Given the description of an element on the screen output the (x, y) to click on. 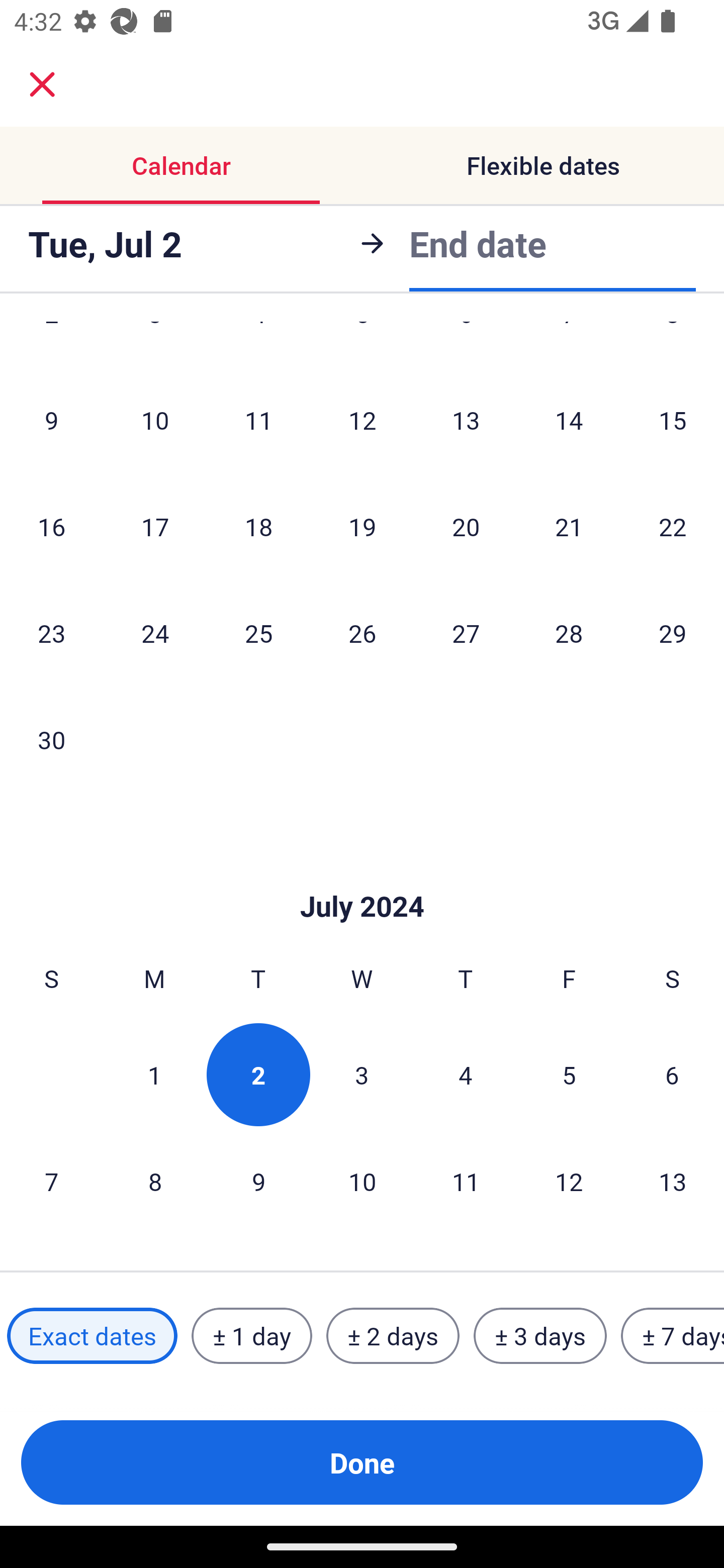
close. (42, 84)
Flexible dates (542, 164)
End date (477, 240)
9 Sunday, June 9, 2024 (51, 419)
10 Monday, June 10, 2024 (155, 419)
11 Tuesday, June 11, 2024 (258, 419)
12 Wednesday, June 12, 2024 (362, 419)
13 Thursday, June 13, 2024 (465, 419)
14 Friday, June 14, 2024 (569, 419)
15 Saturday, June 15, 2024 (672, 419)
16 Sunday, June 16, 2024 (51, 526)
17 Monday, June 17, 2024 (155, 526)
18 Tuesday, June 18, 2024 (258, 526)
19 Wednesday, June 19, 2024 (362, 526)
20 Thursday, June 20, 2024 (465, 526)
21 Friday, June 21, 2024 (569, 526)
22 Saturday, June 22, 2024 (672, 526)
23 Sunday, June 23, 2024 (51, 633)
24 Monday, June 24, 2024 (155, 633)
25 Tuesday, June 25, 2024 (258, 633)
26 Wednesday, June 26, 2024 (362, 633)
27 Thursday, June 27, 2024 (465, 633)
28 Friday, June 28, 2024 (569, 633)
29 Saturday, June 29, 2024 (672, 633)
30 Sunday, June 30, 2024 (51, 739)
Skip to Done (362, 876)
1 Monday, July 1, 2024 (154, 1074)
3 Wednesday, July 3, 2024 (361, 1074)
4 Thursday, July 4, 2024 (465, 1074)
5 Friday, July 5, 2024 (568, 1074)
6 Saturday, July 6, 2024 (672, 1074)
7 Sunday, July 7, 2024 (51, 1181)
8 Monday, July 8, 2024 (155, 1181)
9 Tuesday, July 9, 2024 (258, 1181)
10 Wednesday, July 10, 2024 (362, 1181)
11 Thursday, July 11, 2024 (465, 1181)
12 Friday, July 12, 2024 (569, 1181)
13 Saturday, July 13, 2024 (672, 1181)
Exact dates (92, 1335)
± 1 day (251, 1335)
± 2 days (392, 1335)
± 3 days (539, 1335)
± 7 days (672, 1335)
Done (361, 1462)
